Given the description of an element on the screen output the (x, y) to click on. 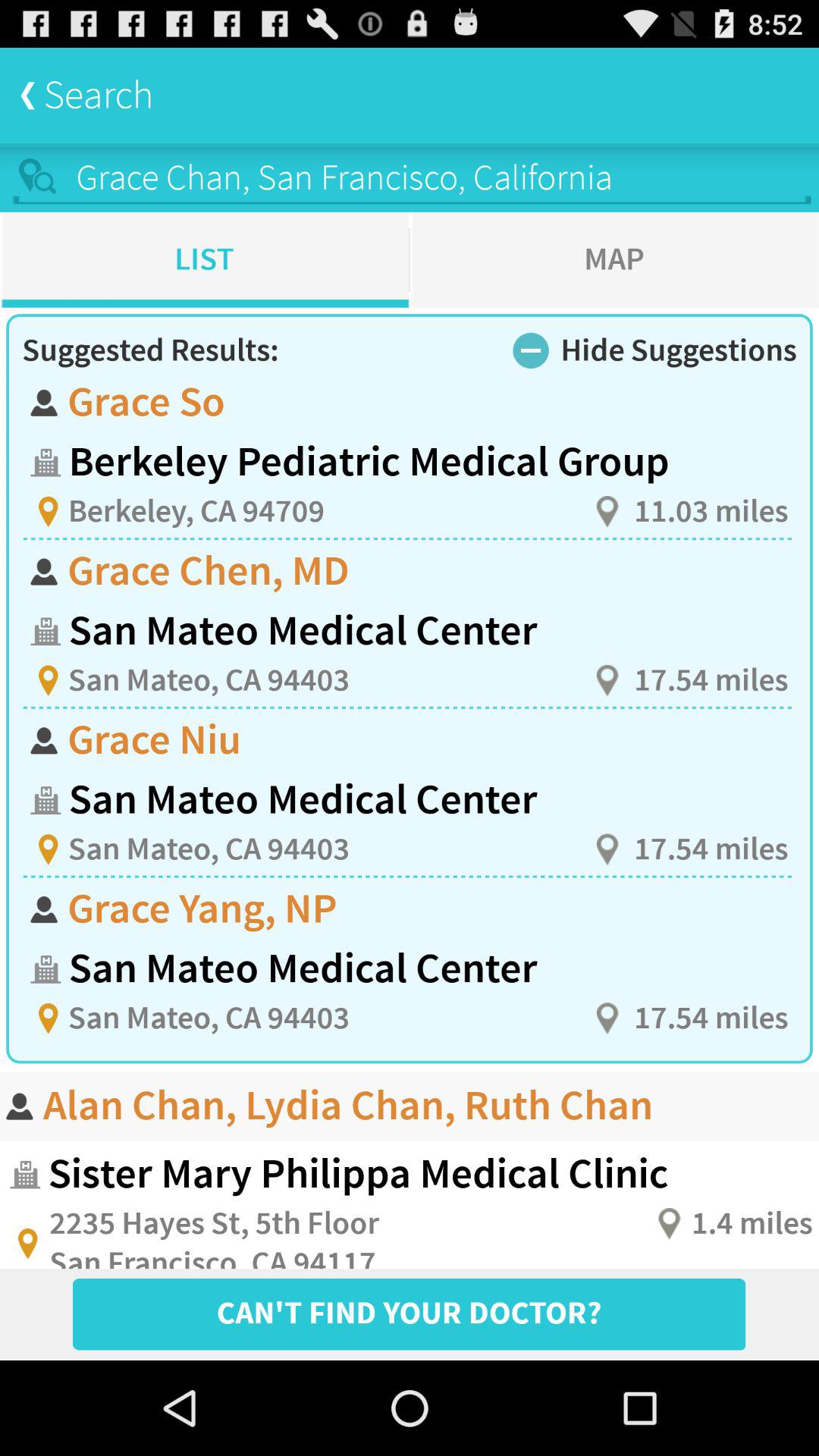
the text hide suggestions along with the icon left to it (654, 351)
click on the icon left to grace chan (39, 176)
